Given the description of an element on the screen output the (x, y) to click on. 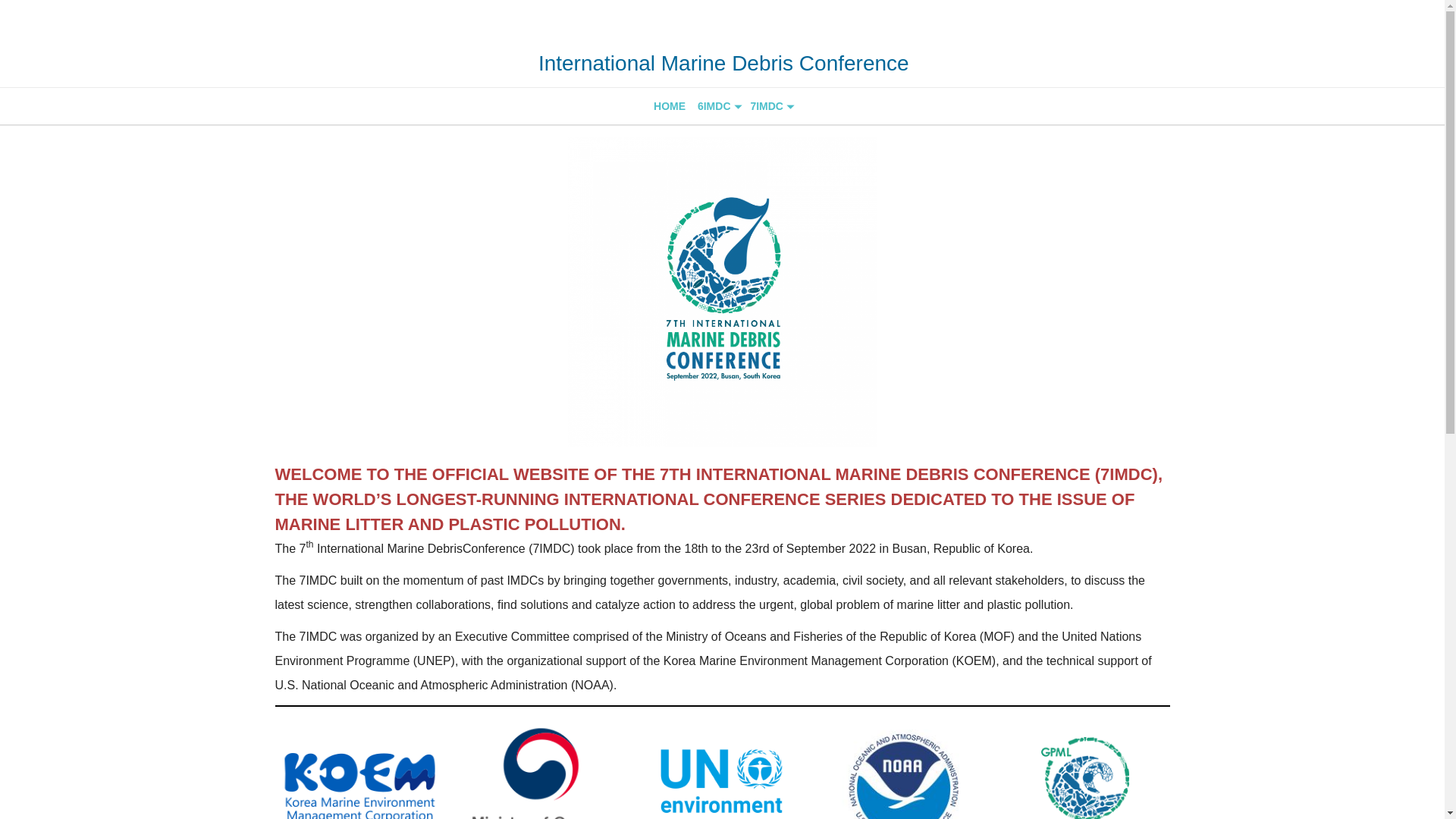
HOME (669, 106)
7IMDC (769, 106)
6IMDC (717, 106)
International Marine Debris Conference (723, 63)
